Given the description of an element on the screen output the (x, y) to click on. 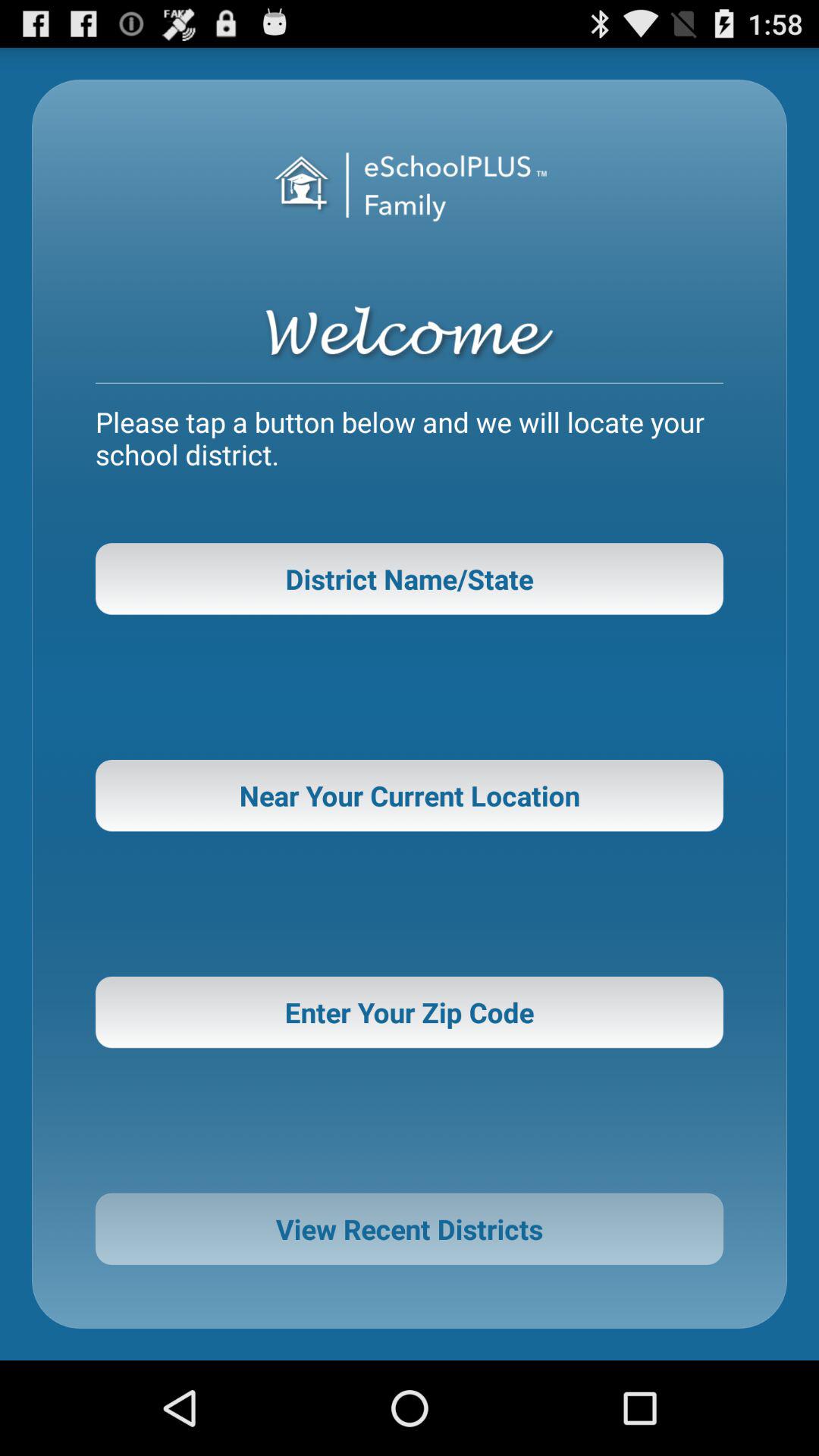
tap district name/state item (409, 578)
